Given the description of an element on the screen output the (x, y) to click on. 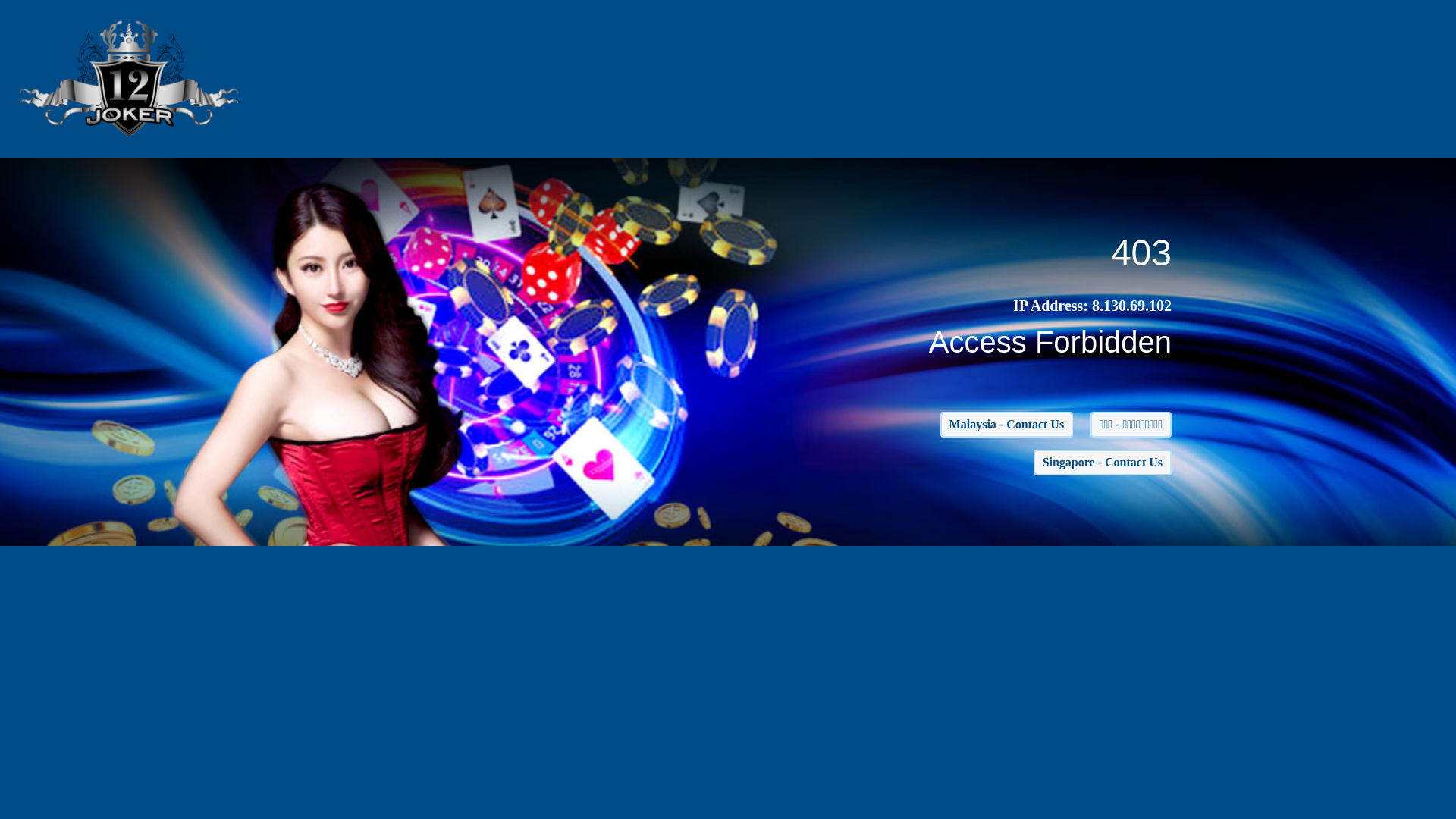
Singapore - Contact Us Element type: text (1102, 462)
Malaysia - Contact Us Element type: text (1006, 424)
